Given the description of an element on the screen output the (x, y) to click on. 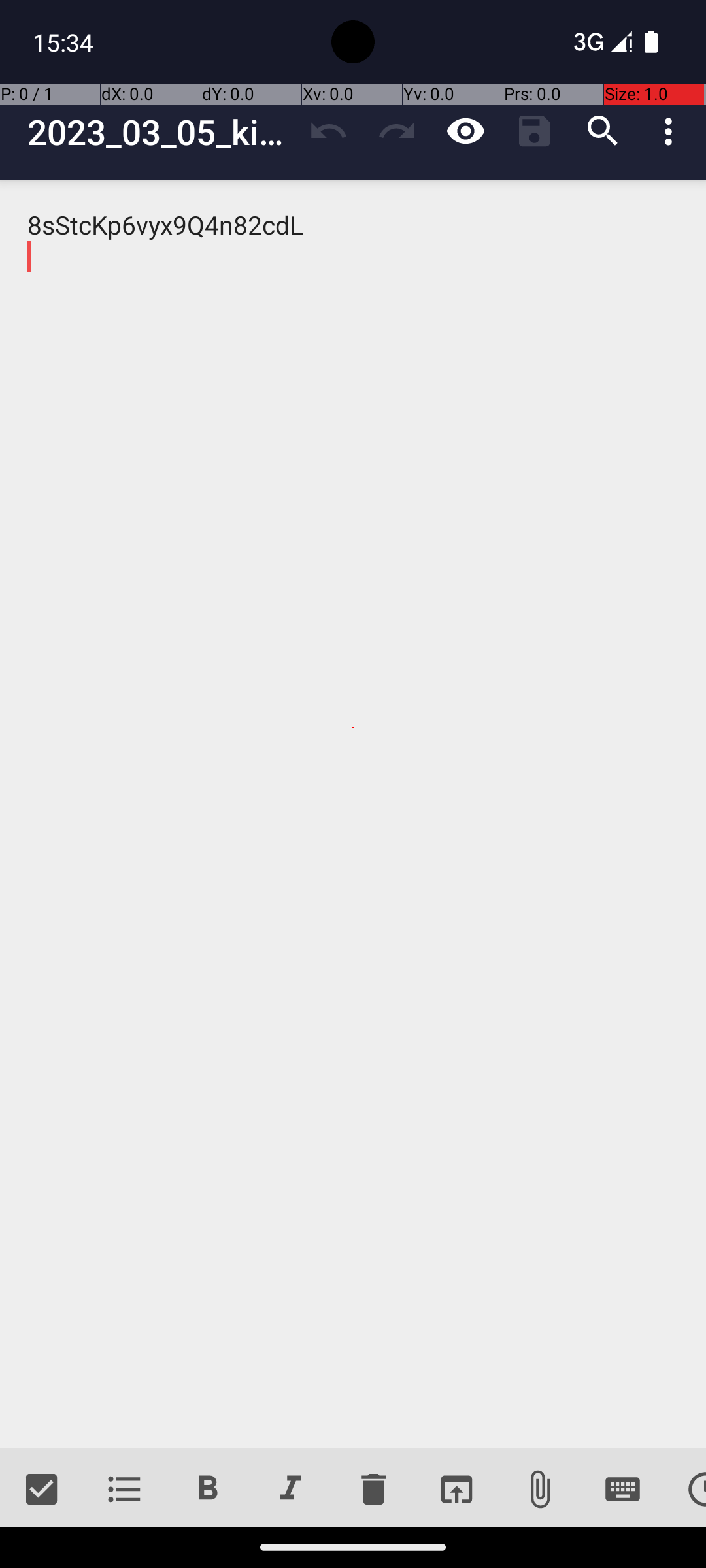
2023_03_05_kind_penguin_final Element type: android.widget.TextView (160, 131)
8sStcKp6vyx9Q4n82cdL
 Element type: android.widget.EditText (353, 813)
